Given the description of an element on the screen output the (x, y) to click on. 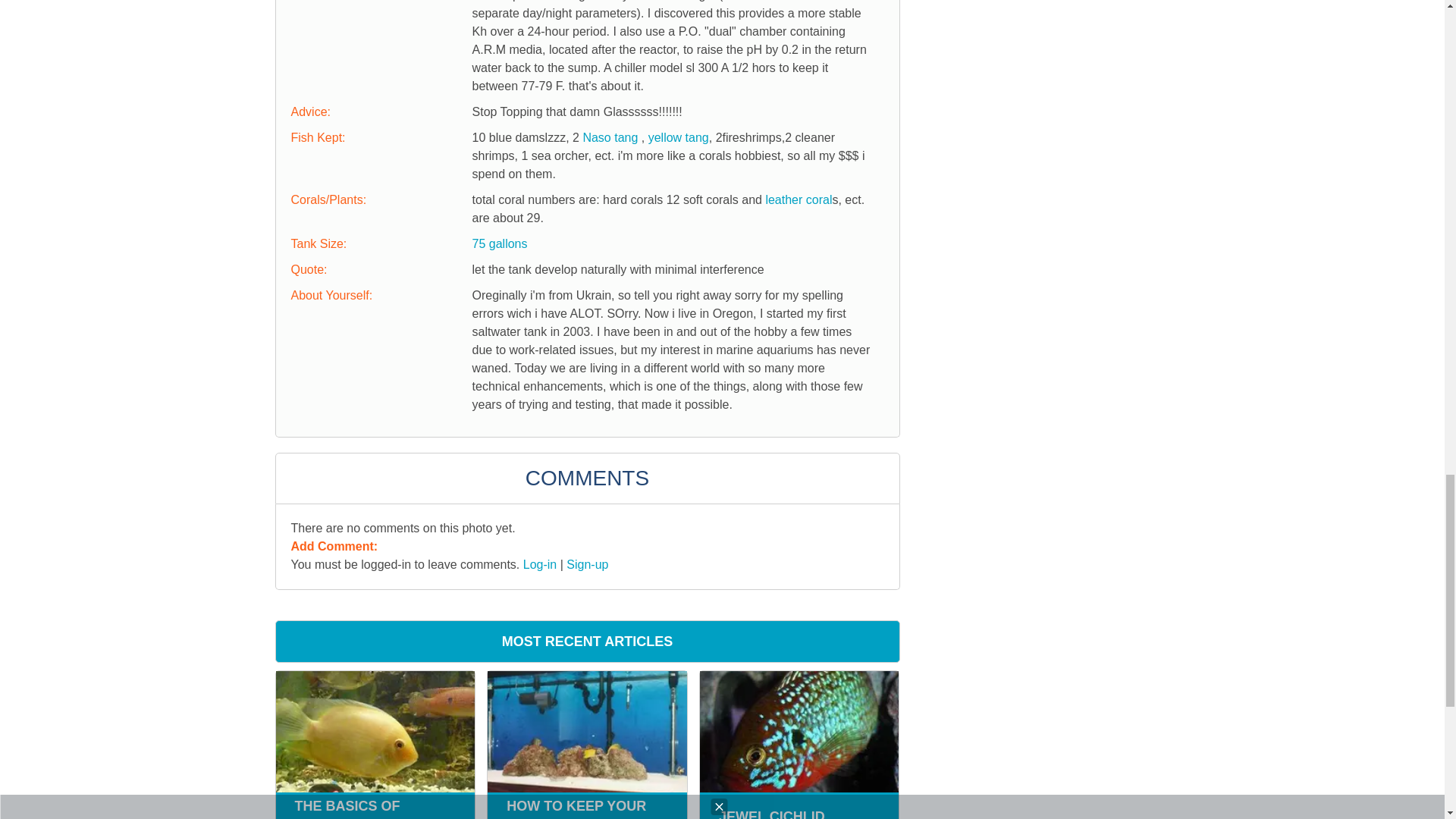
yellow tang (678, 137)
leather coral (798, 199)
Naso tang (609, 137)
